Given the description of an element on the screen output the (x, y) to click on. 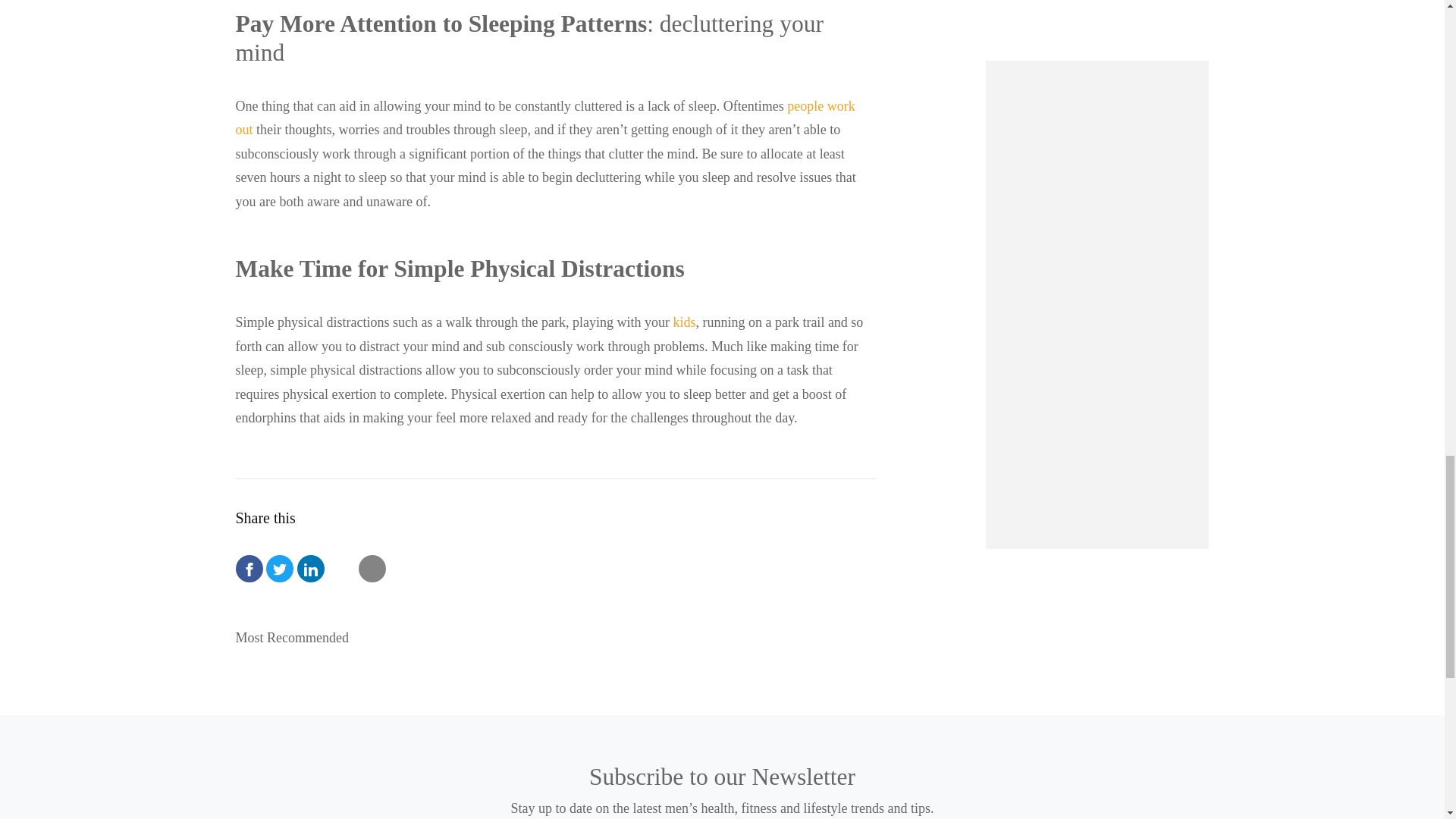
people work out (544, 118)
kids (683, 322)
